Given the description of an element on the screen output the (x, y) to click on. 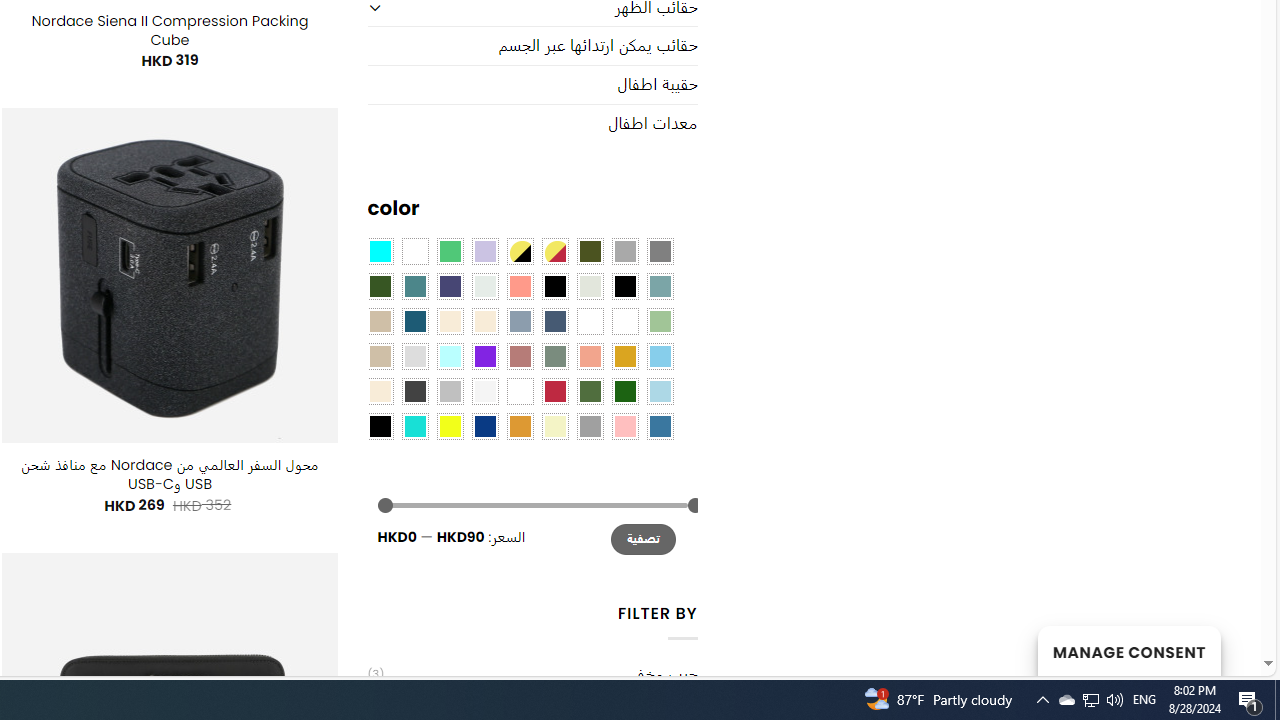
Black-Brown (624, 285)
Light Green (659, 321)
Rose (519, 355)
Light Taupe (379, 355)
Capri Blue (414, 321)
Brownie (379, 321)
